Given the description of an element on the screen output the (x, y) to click on. 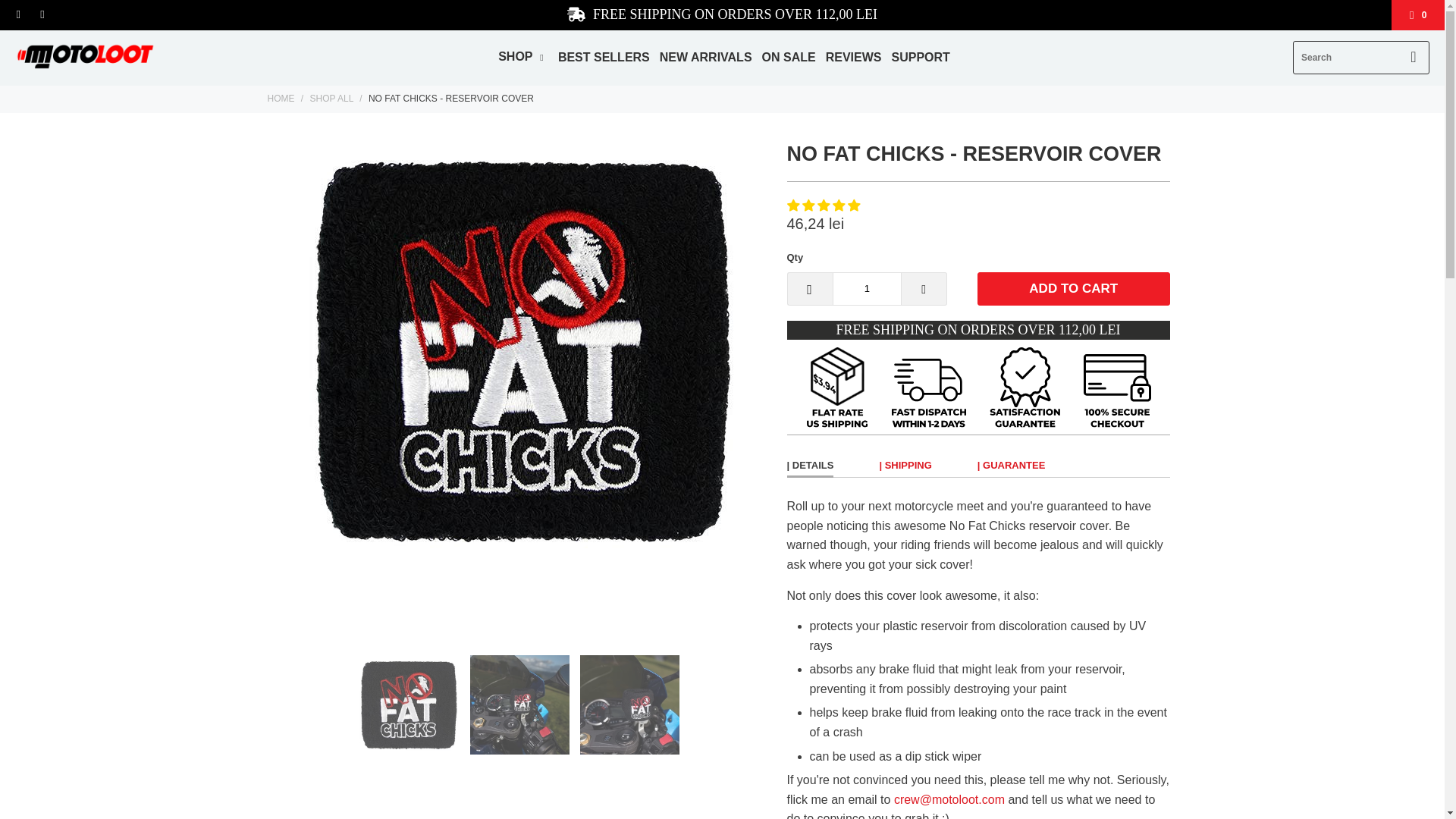
1 (866, 288)
Moto Loot on Facebook (17, 14)
Shop All (331, 98)
Moto Loot on Instagram (41, 14)
Moto Loot (280, 98)
Moto Loot (84, 57)
